Given the description of an element on the screen output the (x, y) to click on. 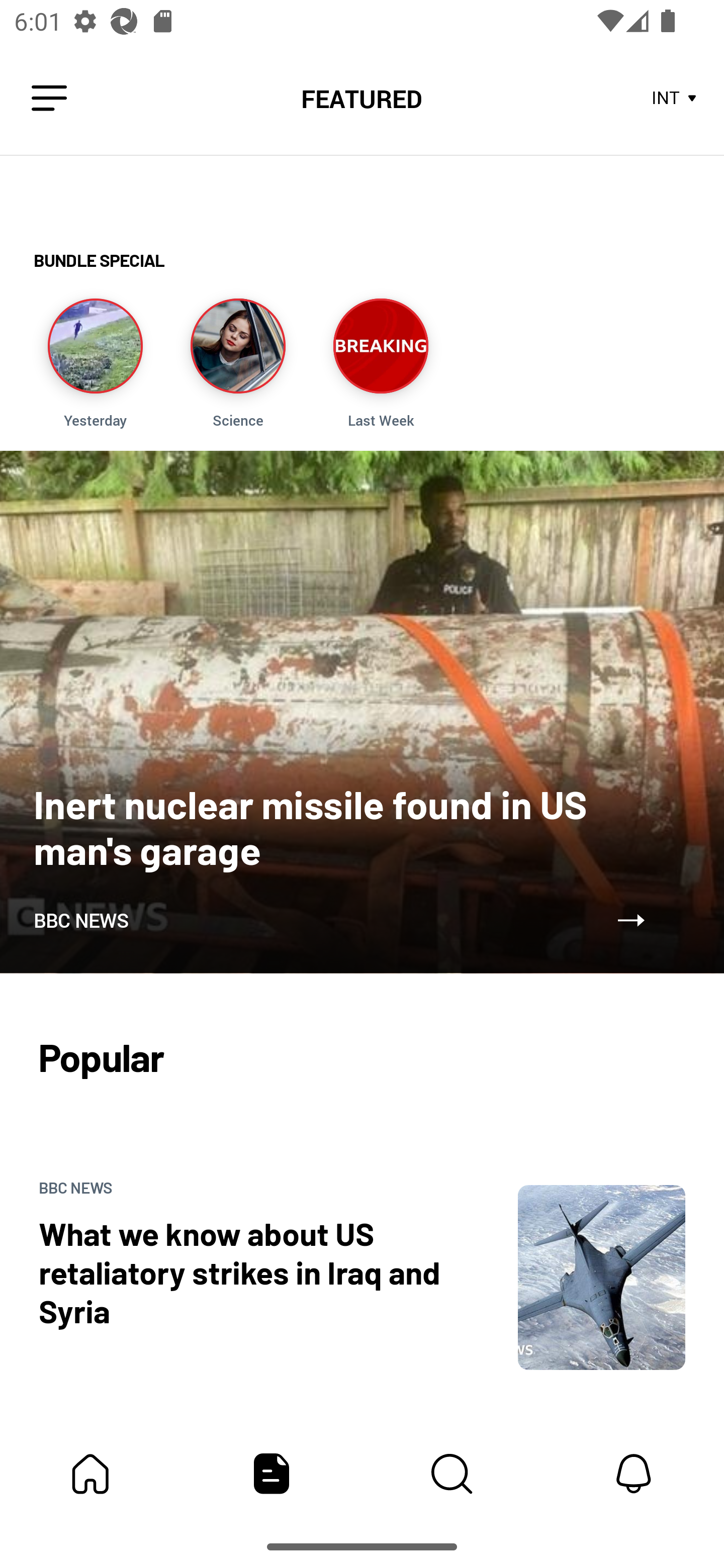
INT Store Area (674, 98)
Leading Icon (49, 98)
Story Image Yesterday (94, 363)
Story Image Science (237, 363)
Story Image Last Week (380, 363)
My Bundle (90, 1473)
Content Store (452, 1473)
Notifications (633, 1473)
